Given the description of an element on the screen output the (x, y) to click on. 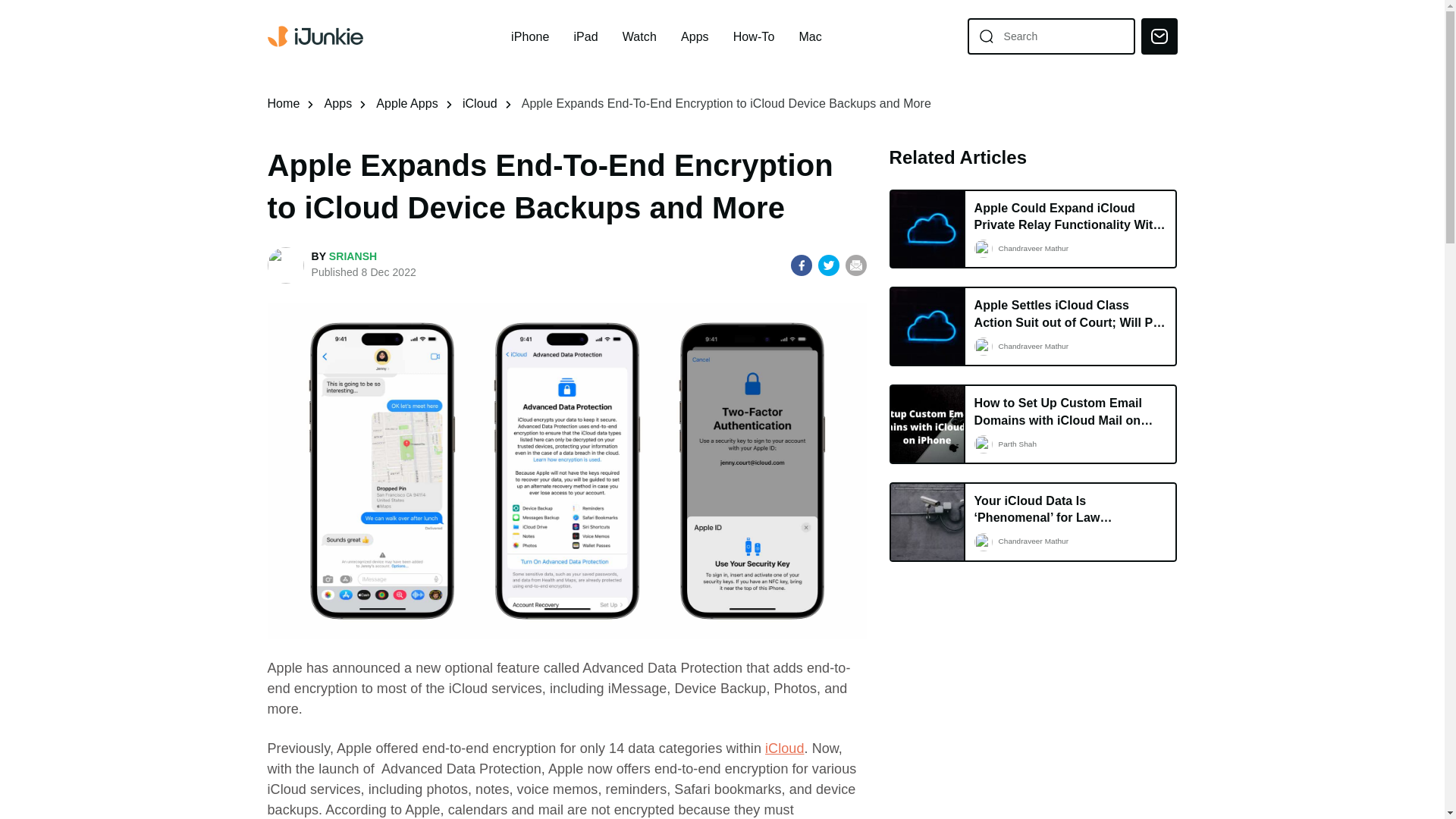
iPhone (529, 37)
iPad (584, 37)
Mac (809, 37)
Home (282, 103)
Apps (337, 103)
How-To (753, 37)
Apps (695, 37)
iPhone (529, 37)
Share to Facebook (801, 265)
Share to Twitter (829, 265)
Apple Watch (639, 37)
Apple Apps (406, 103)
